Given the description of an element on the screen output the (x, y) to click on. 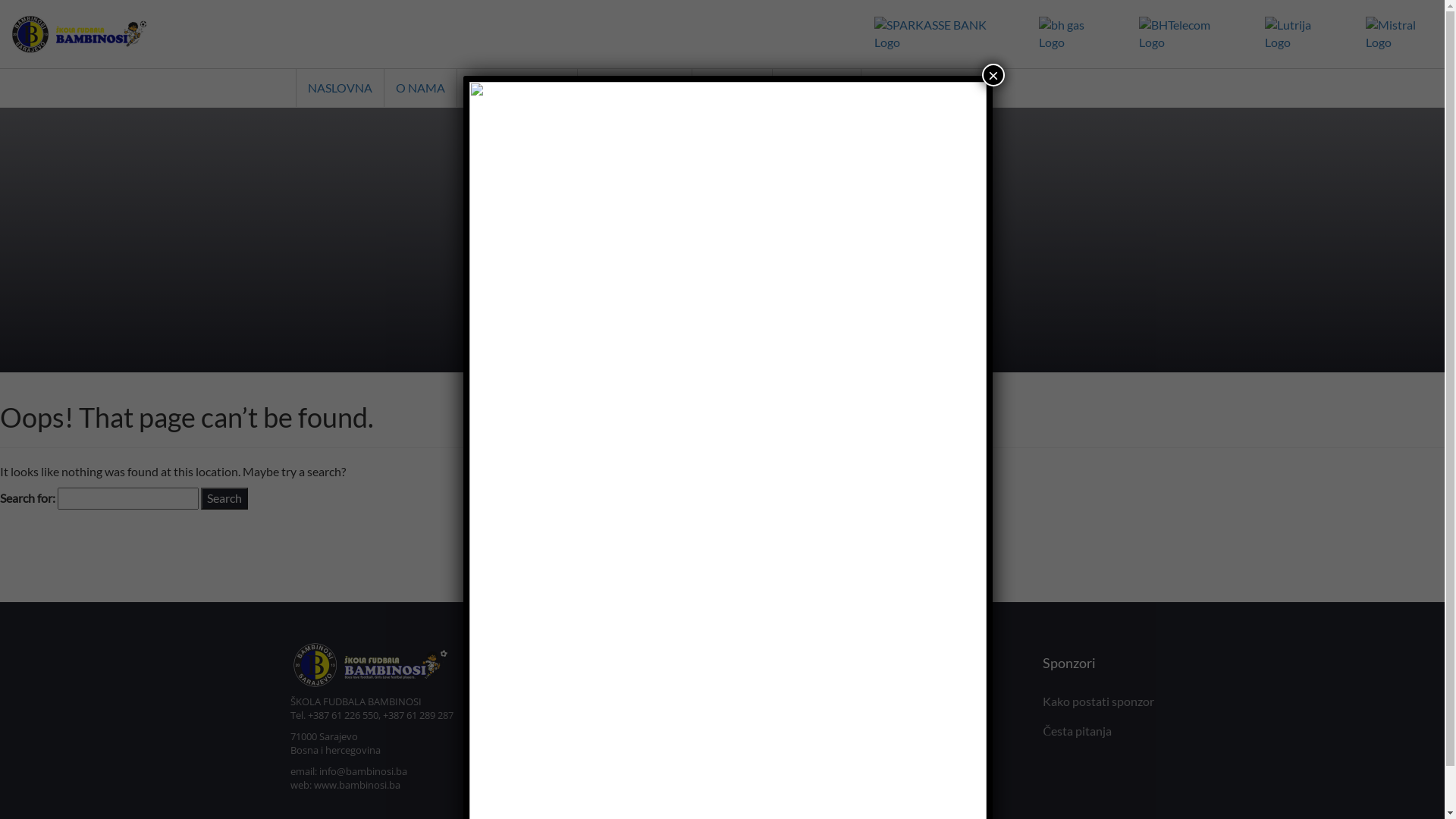
Kako se upisati Element type: text (654, 700)
INFORMACIJE Element type: text (634, 87)
Kako postati sponzor Element type: text (1098, 700)
NASLOVNA Element type: text (339, 87)
Rasporedi treninga Element type: text (664, 730)
O NAMA Element type: text (420, 87)
Novosti Element type: text (635, 789)
GALERIJA Element type: text (816, 87)
KONTAKT Element type: text (731, 87)
Rasporedi utakmica Element type: text (666, 760)
Search Element type: text (223, 498)
Selekcije Element type: text (875, 700)
SPONZORI Element type: text (908, 87)
KAKO SE UPISATI Element type: text (517, 87)
